Given the description of an element on the screen output the (x, y) to click on. 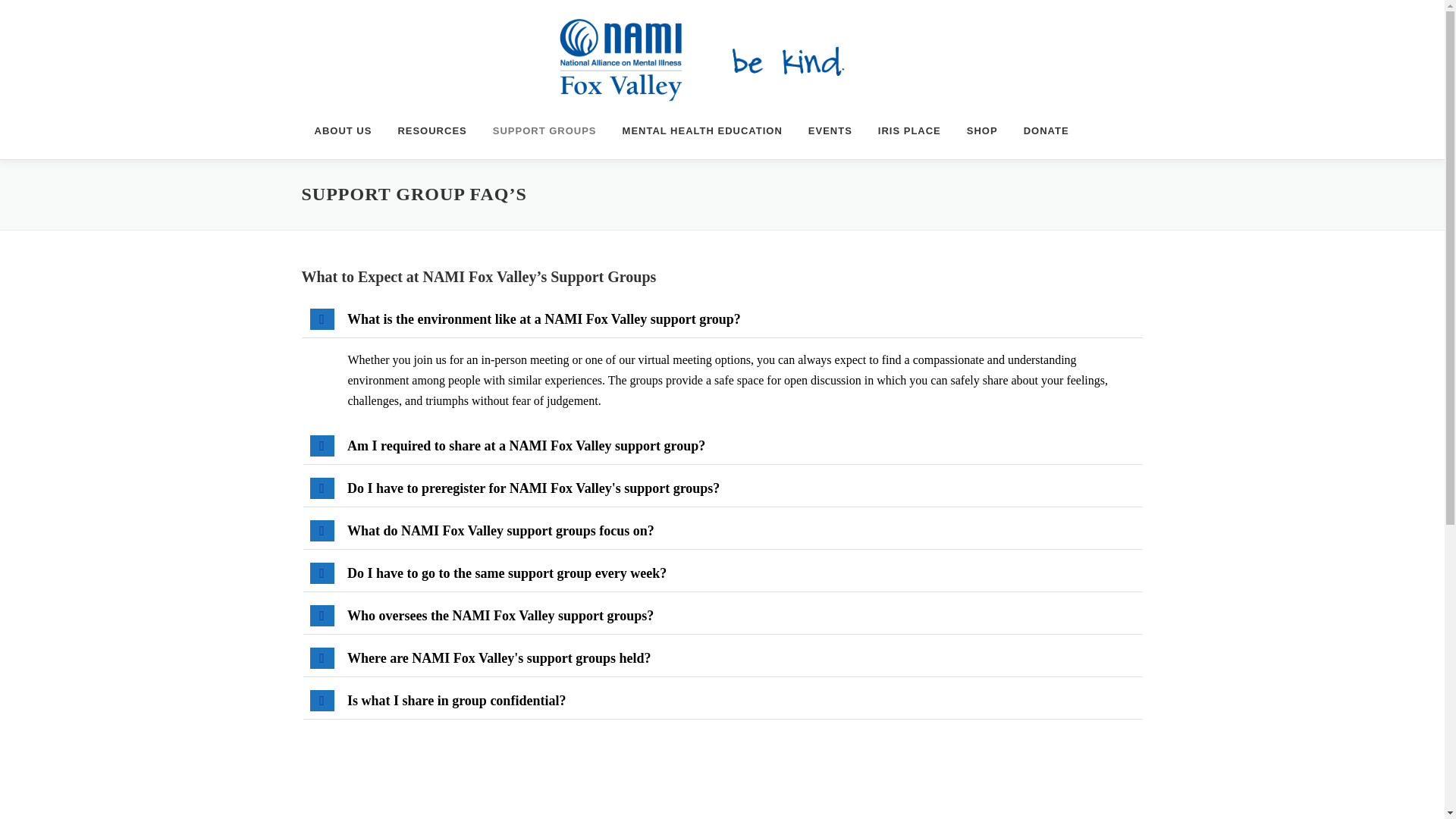
Who oversees the NAMI Fox Valley support groups? (721, 615)
SHOP (981, 130)
EVENTS (829, 130)
ABOUT US (343, 130)
Do I have to go to the same support group every week? (721, 573)
RESOURCES (431, 130)
Is what I share in group confidential? (721, 700)
IRIS PLACE (908, 130)
Where are NAMI Fox Valley's support groups held? (721, 658)
Am I required to share at a NAMI Fox Valley support group? (721, 446)
